Given the description of an element on the screen output the (x, y) to click on. 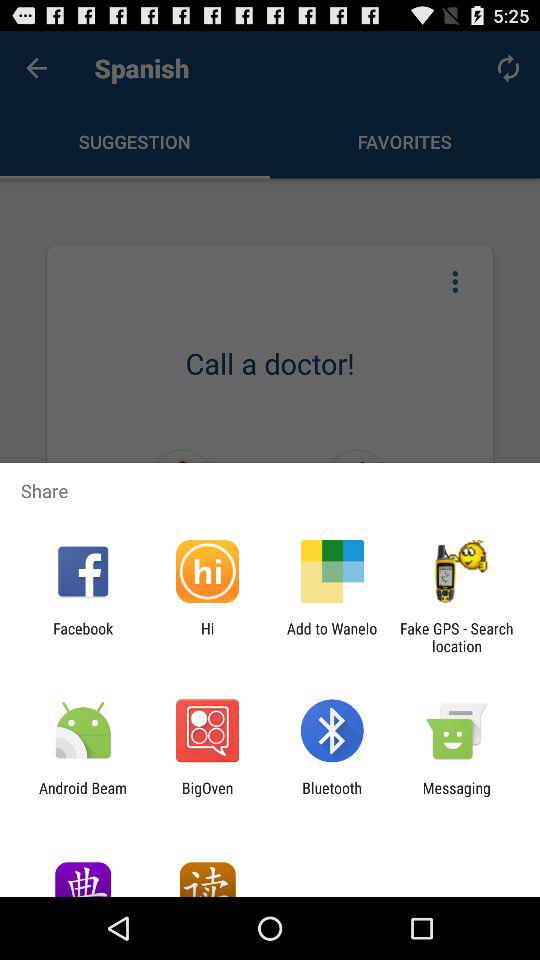
click add to wanelo item (331, 637)
